Given the description of an element on the screen output the (x, y) to click on. 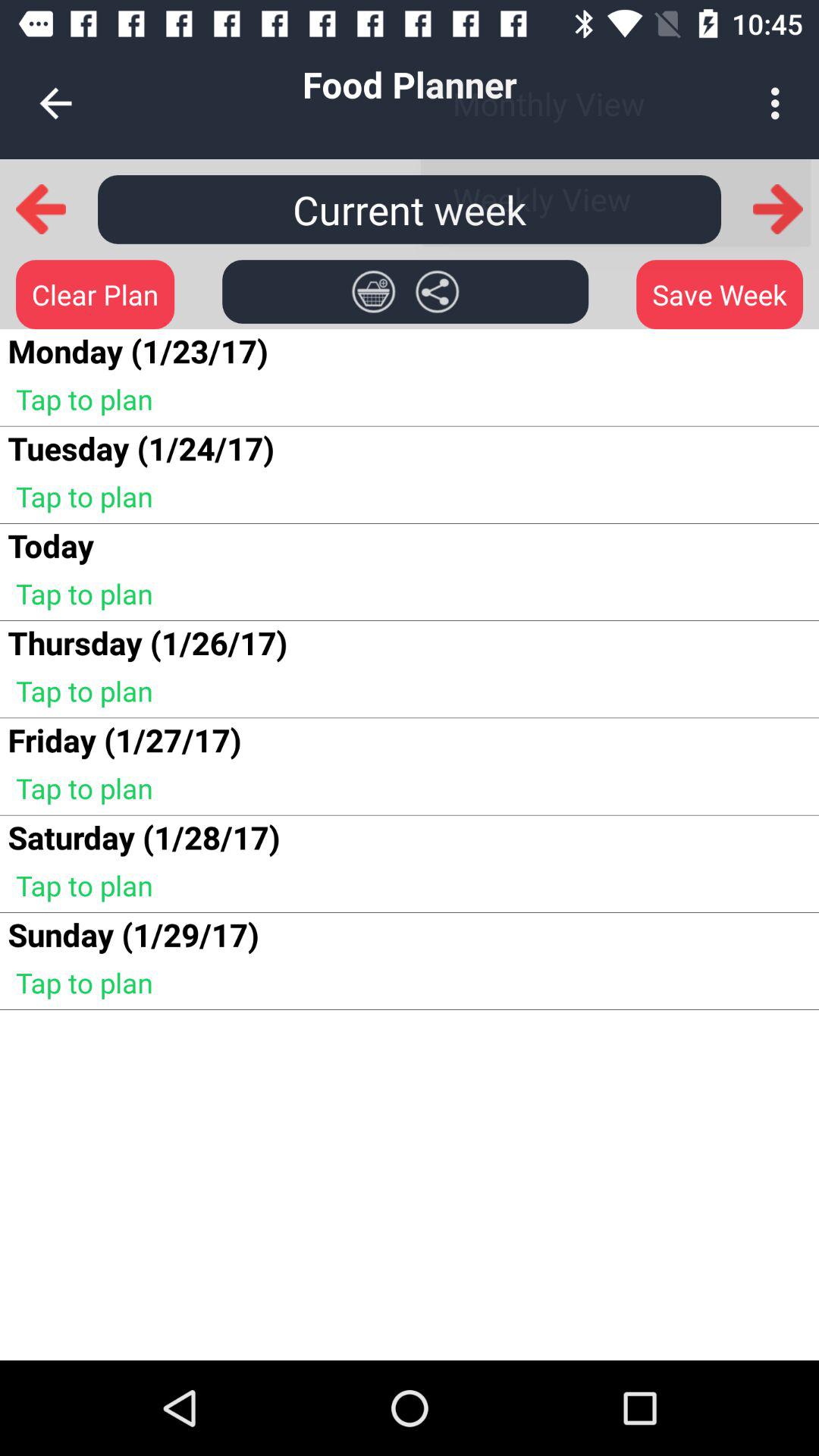
jump until clear plan (94, 294)
